Given the description of an element on the screen output the (x, y) to click on. 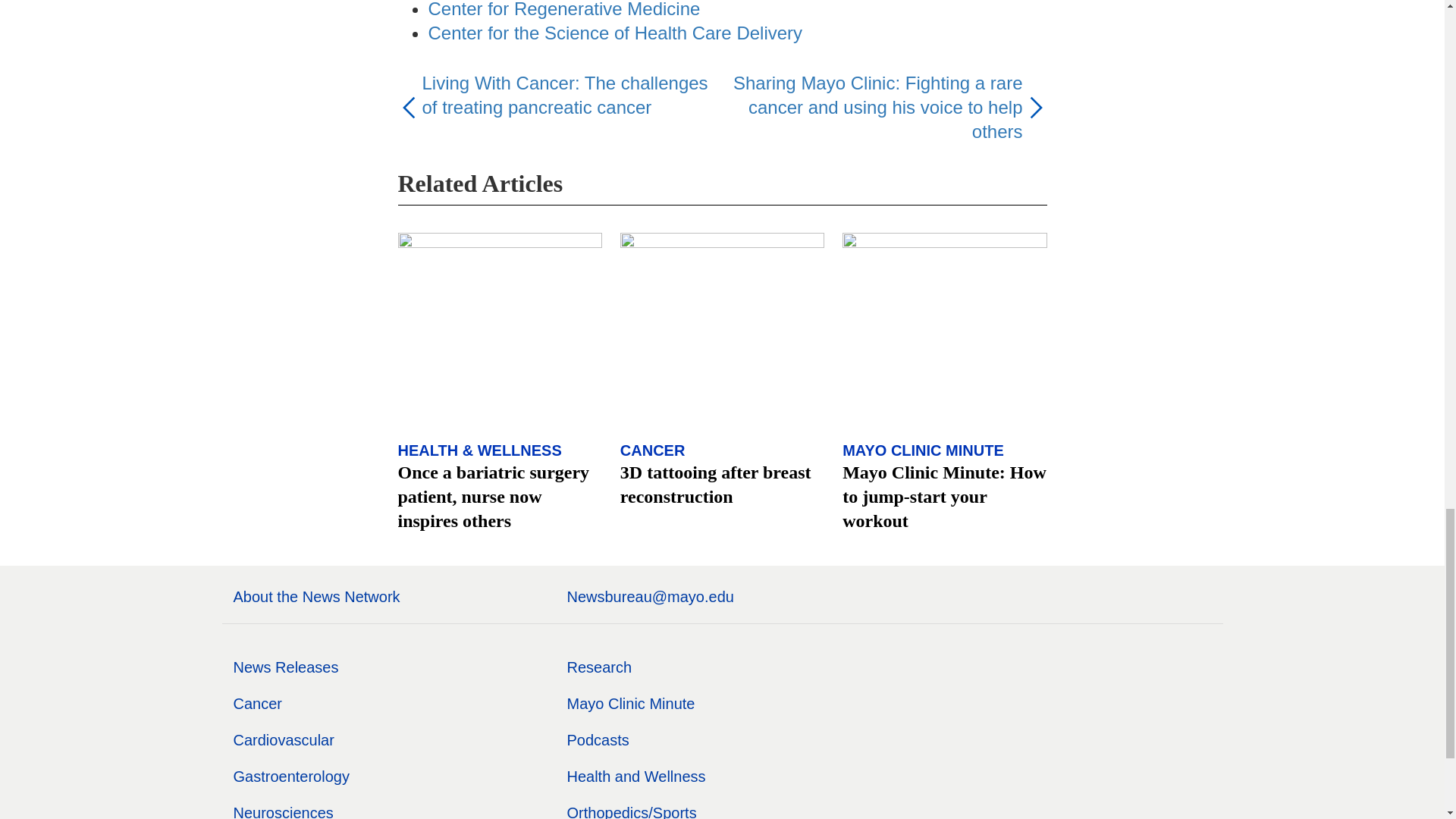
Center for Regenerative Medicine (564, 9)
Center for the Science of Health Care Delivery (615, 32)
